Given the description of an element on the screen output the (x, y) to click on. 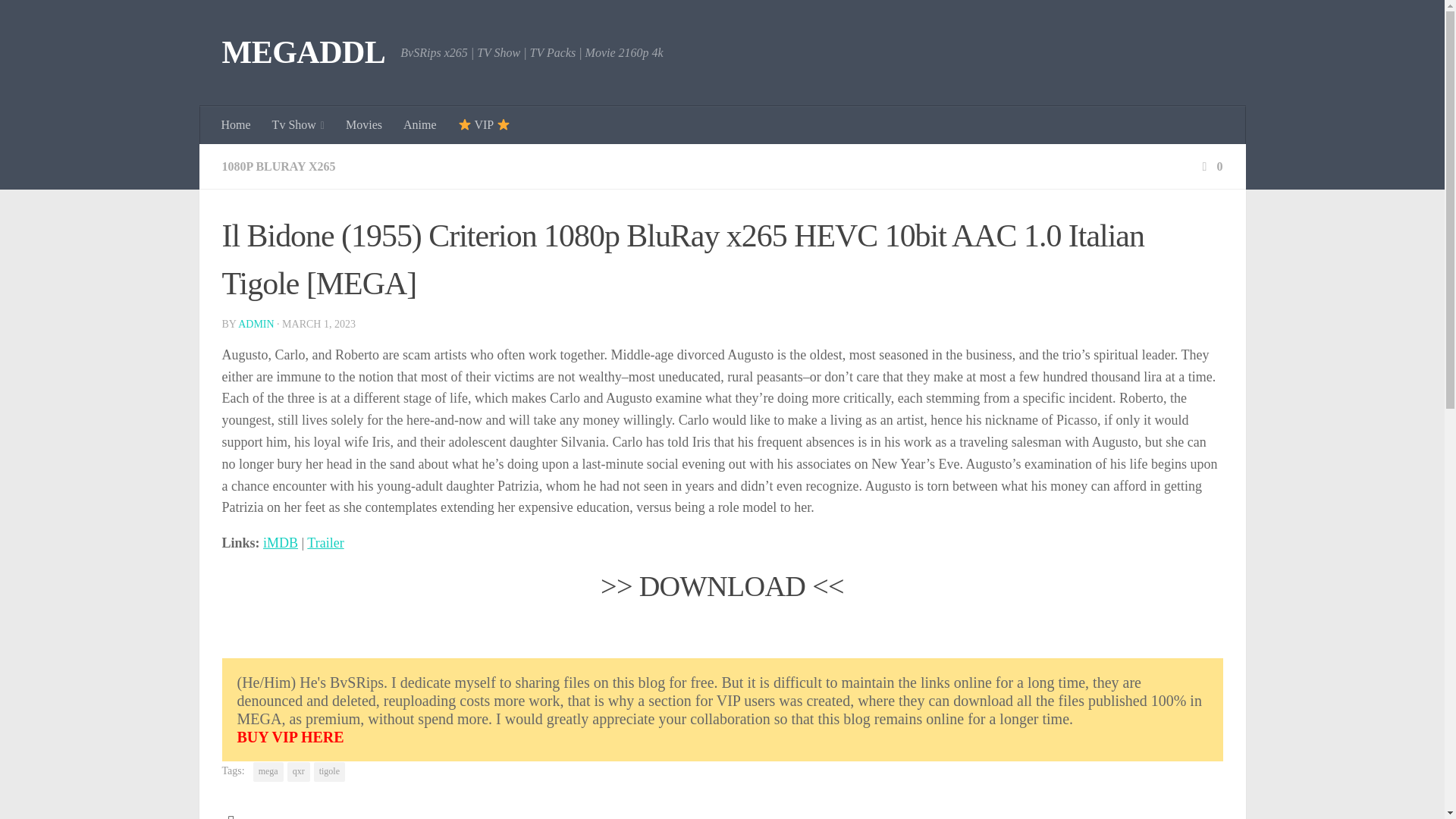
Skip to content (59, 20)
Movies (363, 125)
ADMIN (255, 324)
Trailer (325, 542)
Posts by admin (255, 324)
Tv Show (298, 125)
VIP (483, 125)
1080P BLURAY X265 (277, 165)
BUY VIP HERE (721, 737)
iMDB (280, 542)
Anime (419, 125)
MEGADDL (303, 53)
mega (268, 772)
0 (1210, 165)
Home (236, 125)
